Given the description of an element on the screen output the (x, y) to click on. 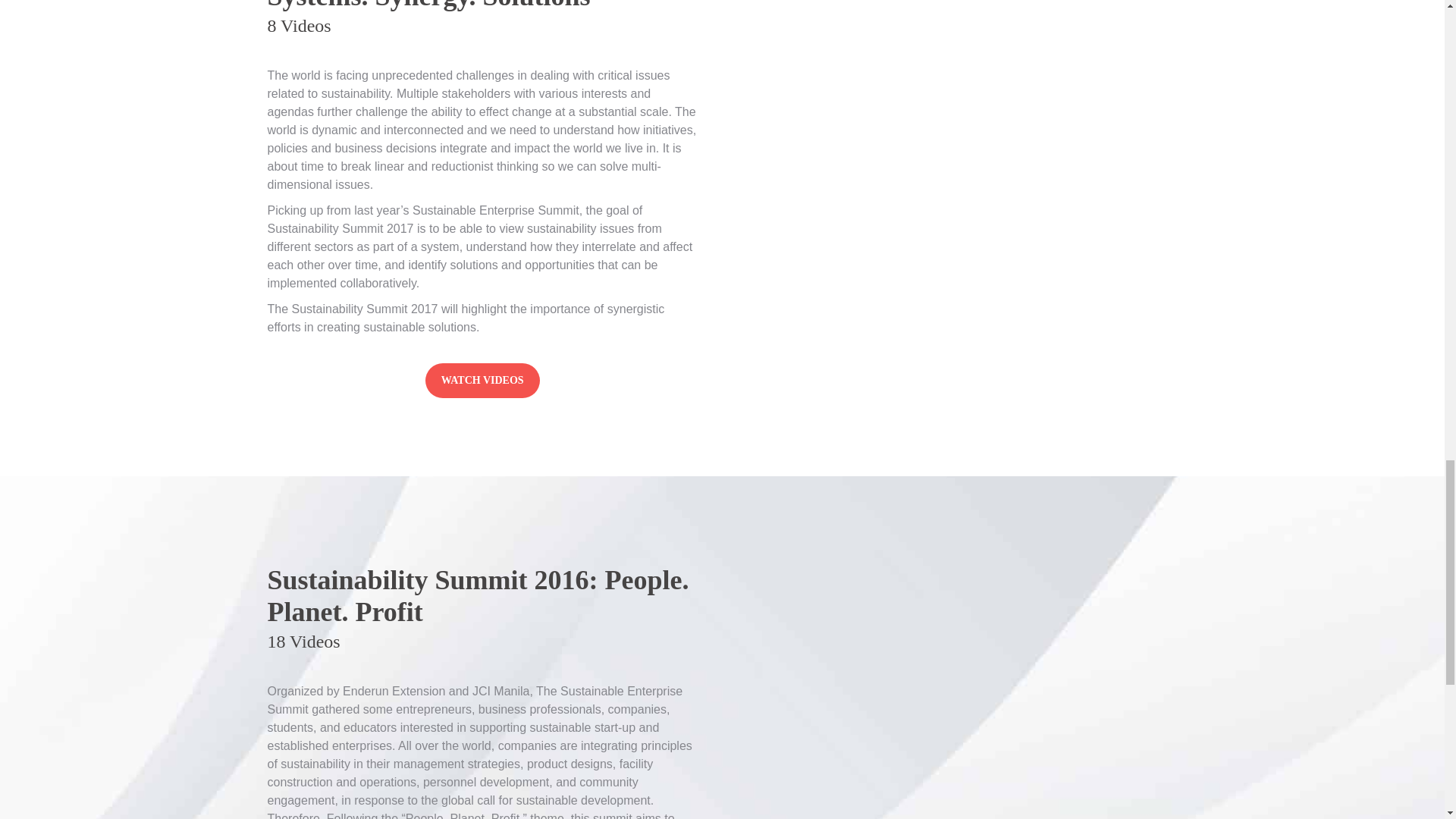
People. Planet. Profit (482, 380)
